Given the description of an element on the screen output the (x, y) to click on. 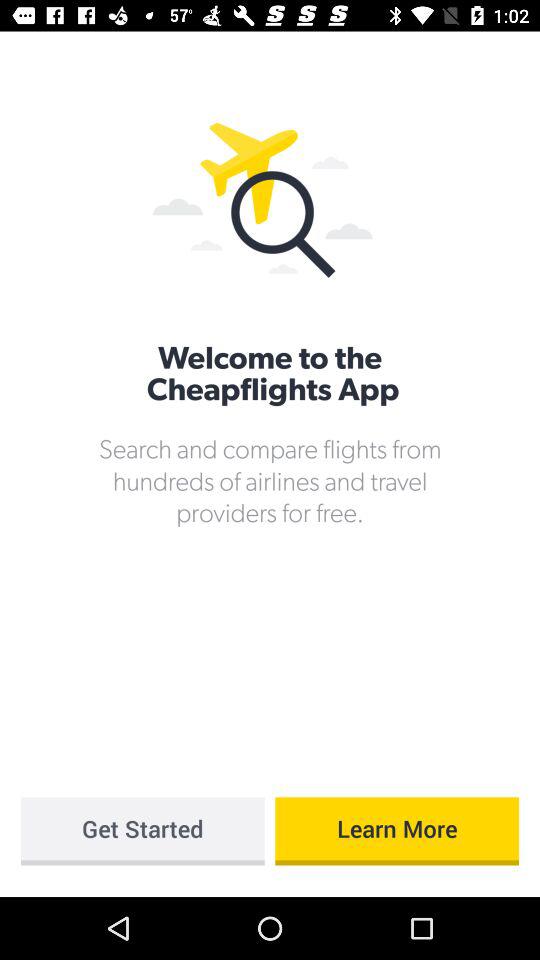
turn on the get started item (142, 831)
